Given the description of an element on the screen output the (x, y) to click on. 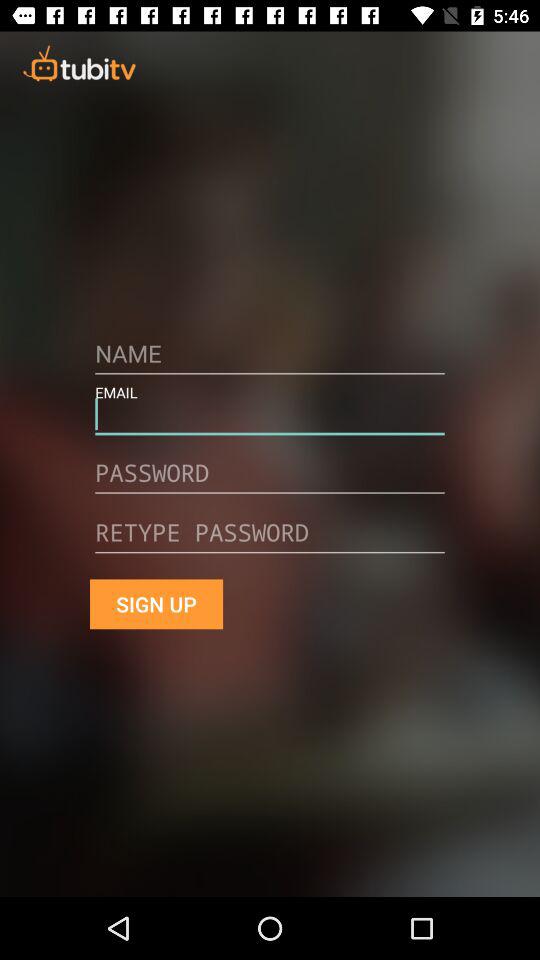
password type option (270, 540)
